Given the description of an element on the screen output the (x, y) to click on. 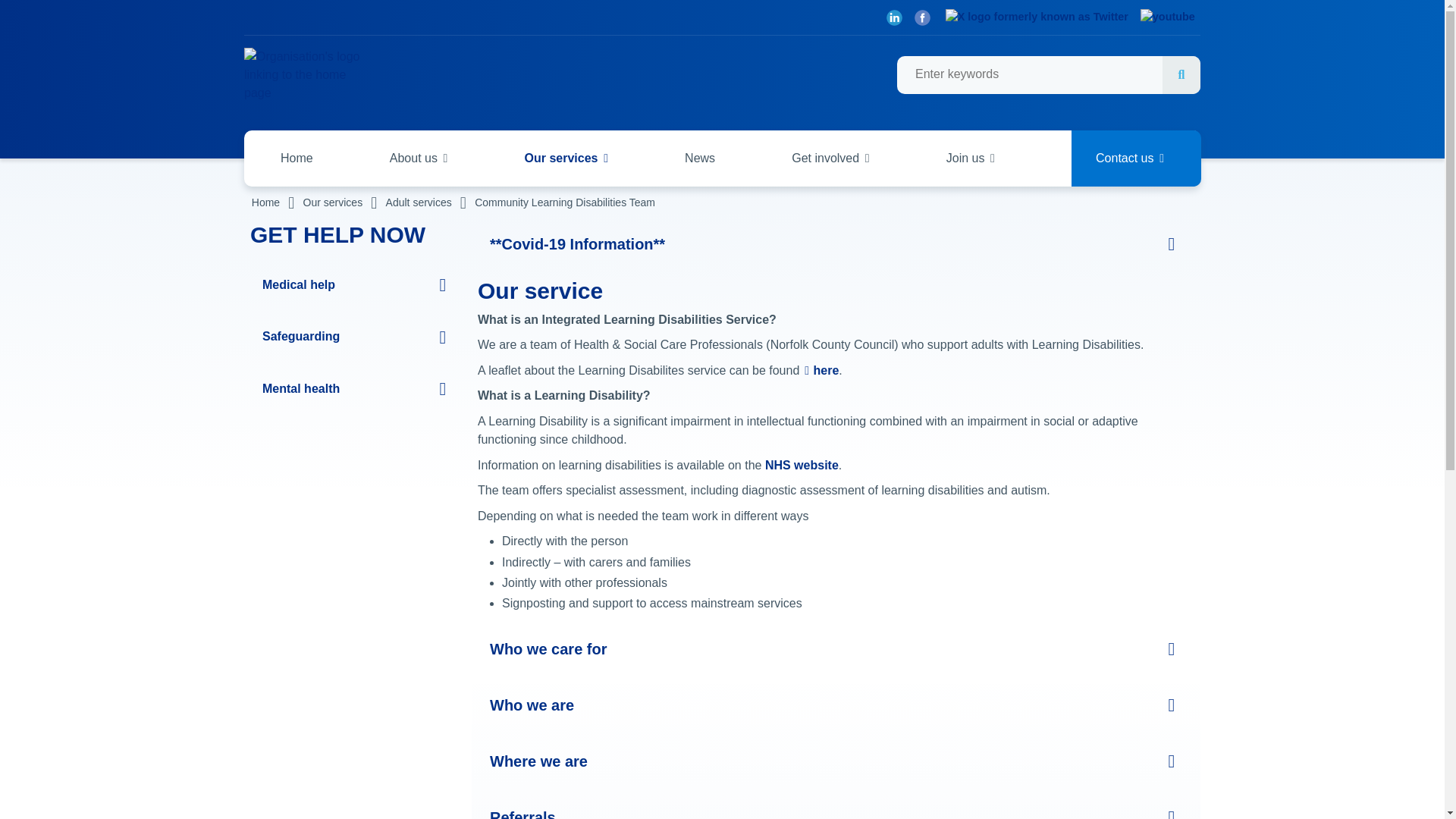
Our services (566, 158)
download this document in a new window (821, 369)
About us (419, 158)
Get involved (830, 158)
search (1047, 75)
Contact us (1135, 158)
